Given the description of an element on the screen output the (x, y) to click on. 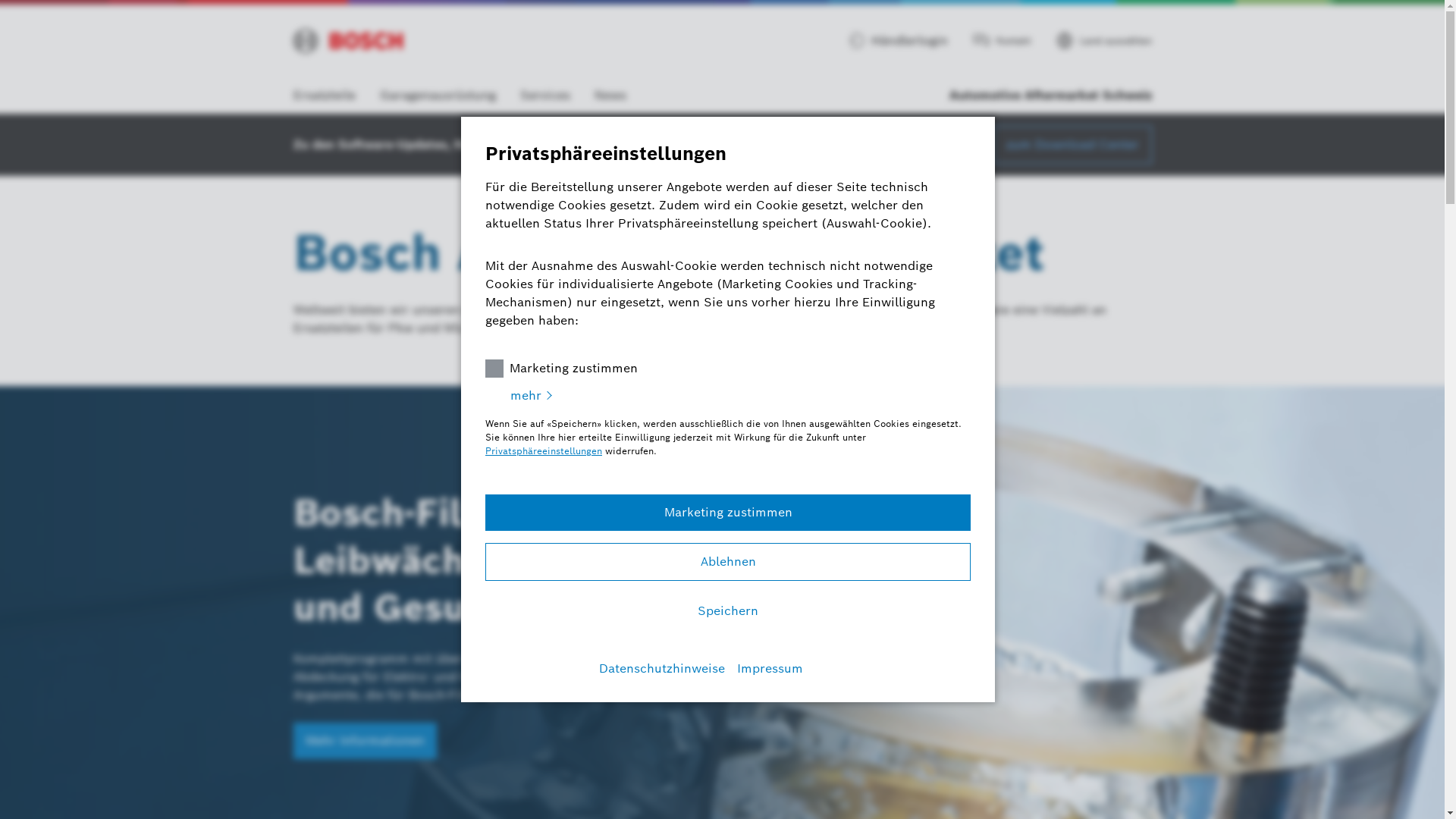
Ersatzteile Element type: text (323, 95)
Services Element type: text (545, 95)
News Element type: text (604, 95)
zum Download Center Element type: text (1071, 144)
Chat Element type: hover (981, 40)
Kontakt Element type: text (1001, 40)
Login mit SingleKey ID Element type: hover (852, 40)
Mehr Informationen Element type: text (288, 792)
Mehr Informationen Element type: text (364, 708)
